Given the description of an element on the screen output the (x, y) to click on. 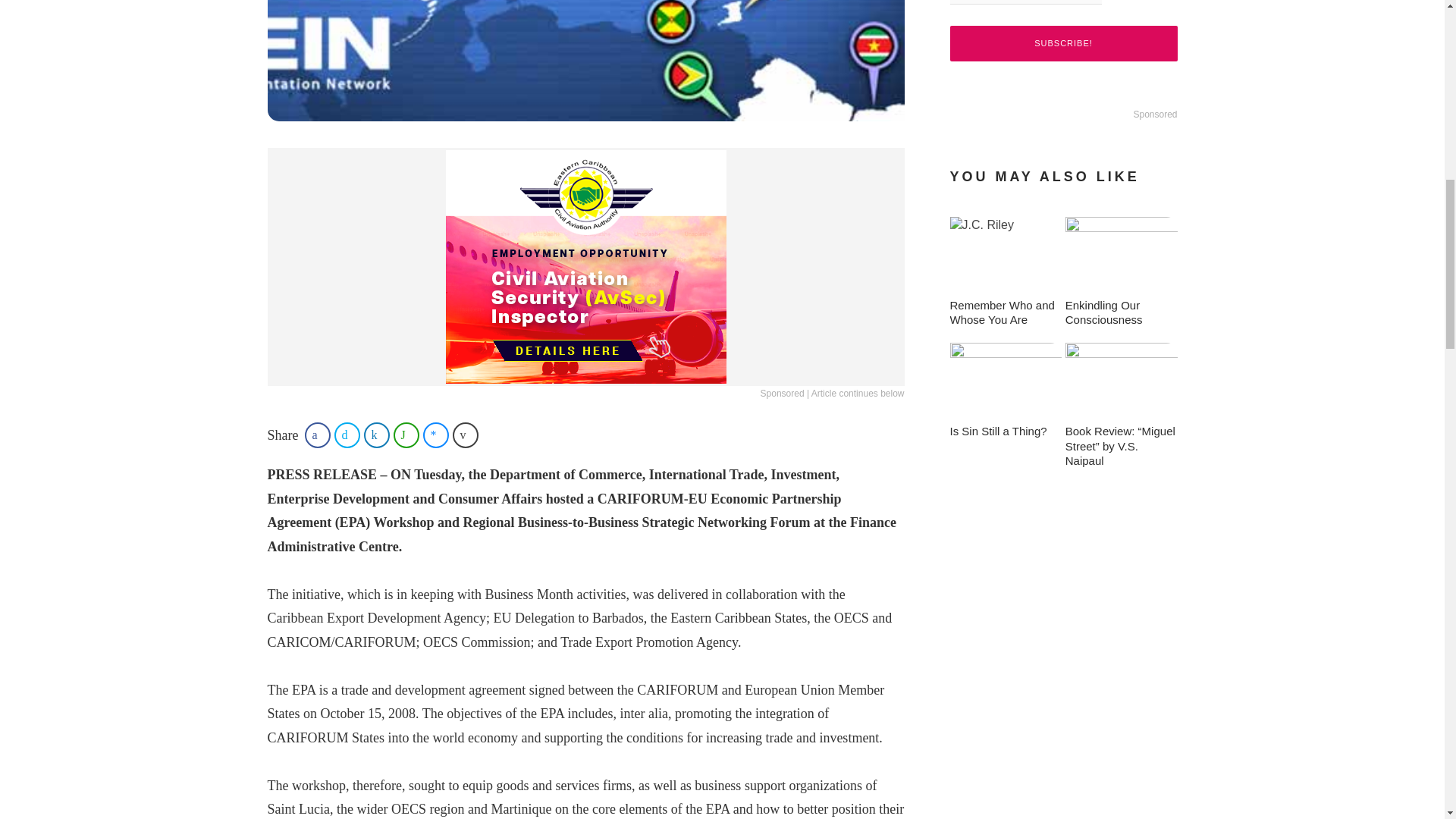
Share on LinkedIn (377, 434)
Share on Twitter (346, 434)
Share on Email (465, 434)
Share on Facebook (317, 434)
Share on Facebook Messenger (435, 434)
Email (1024, 2)
Share on WhatsApp (406, 434)
Subscribe! (1062, 43)
